Given the description of an element on the screen output the (x, y) to click on. 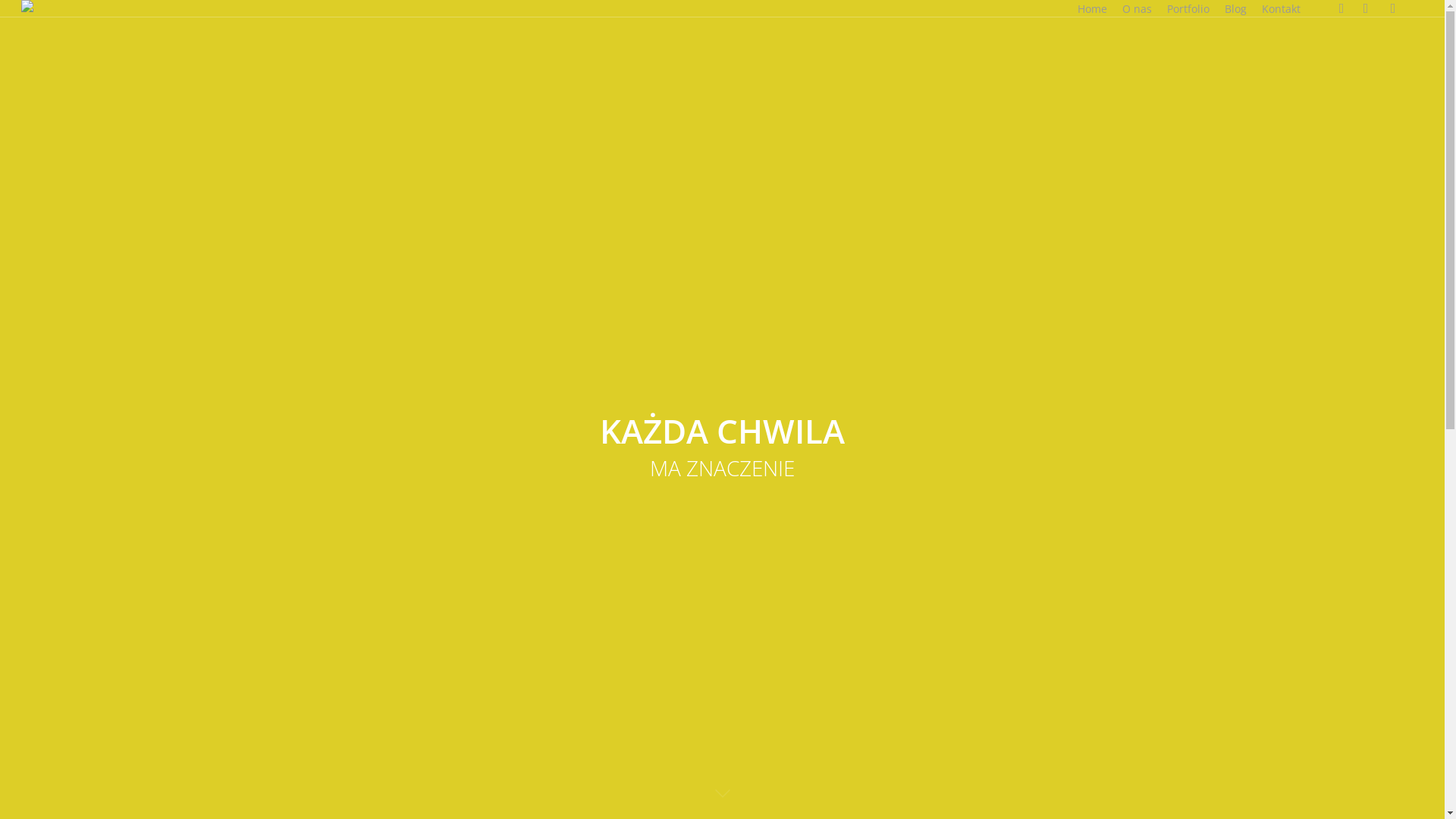
Kontakt Element type: text (1281, 8)
Home Element type: text (1092, 8)
Blog Element type: text (1235, 8)
O nas Element type: text (1136, 8)
Portfolio Element type: text (1188, 8)
